Given the description of an element on the screen output the (x, y) to click on. 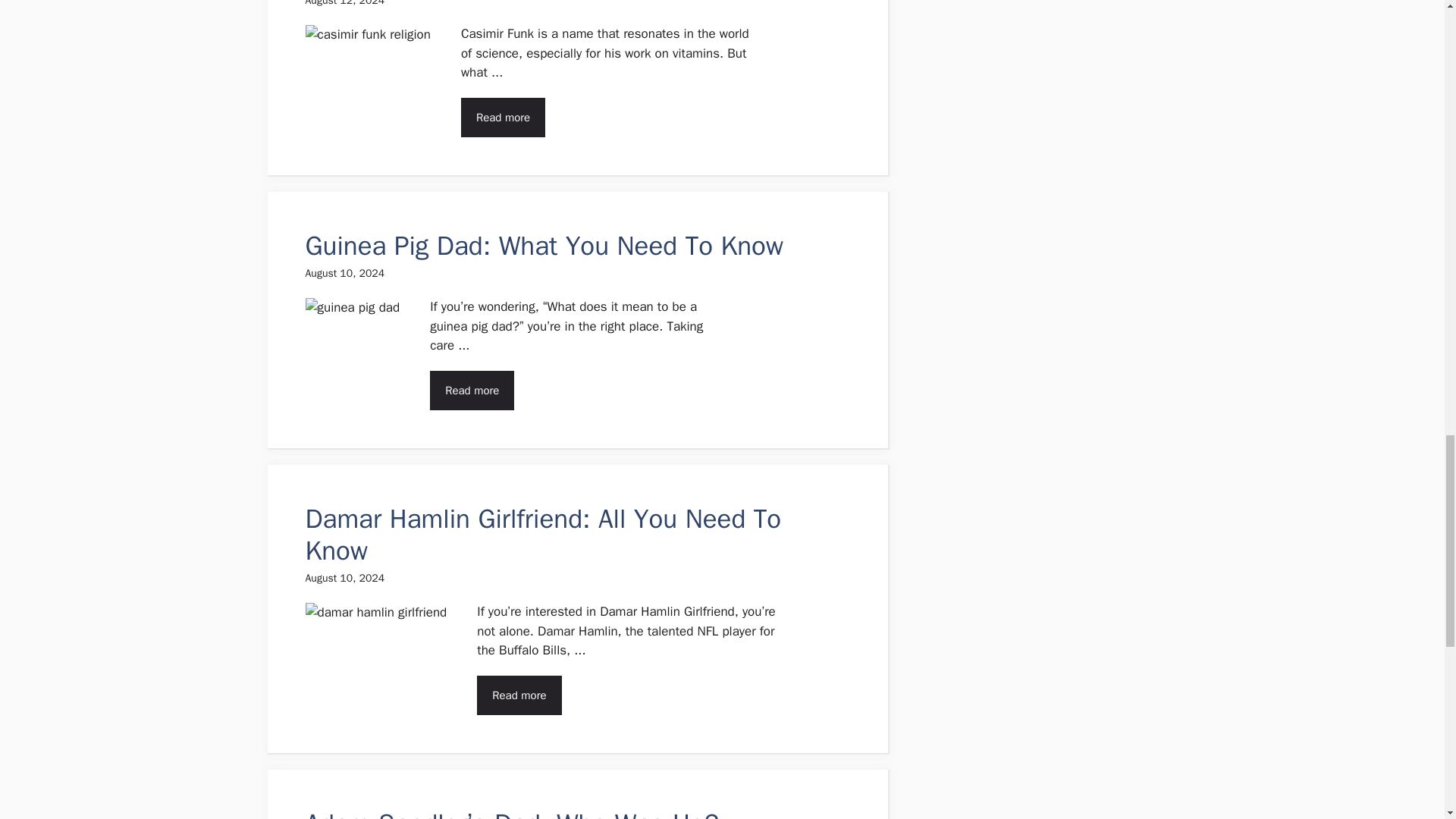
Read more (518, 694)
Guinea Pig Dad: What You Need To Know (543, 245)
Read more (502, 117)
Damar Hamlin Girlfriend: All You Need To Know (542, 534)
Read more (471, 390)
